Given the description of an element on the screen output the (x, y) to click on. 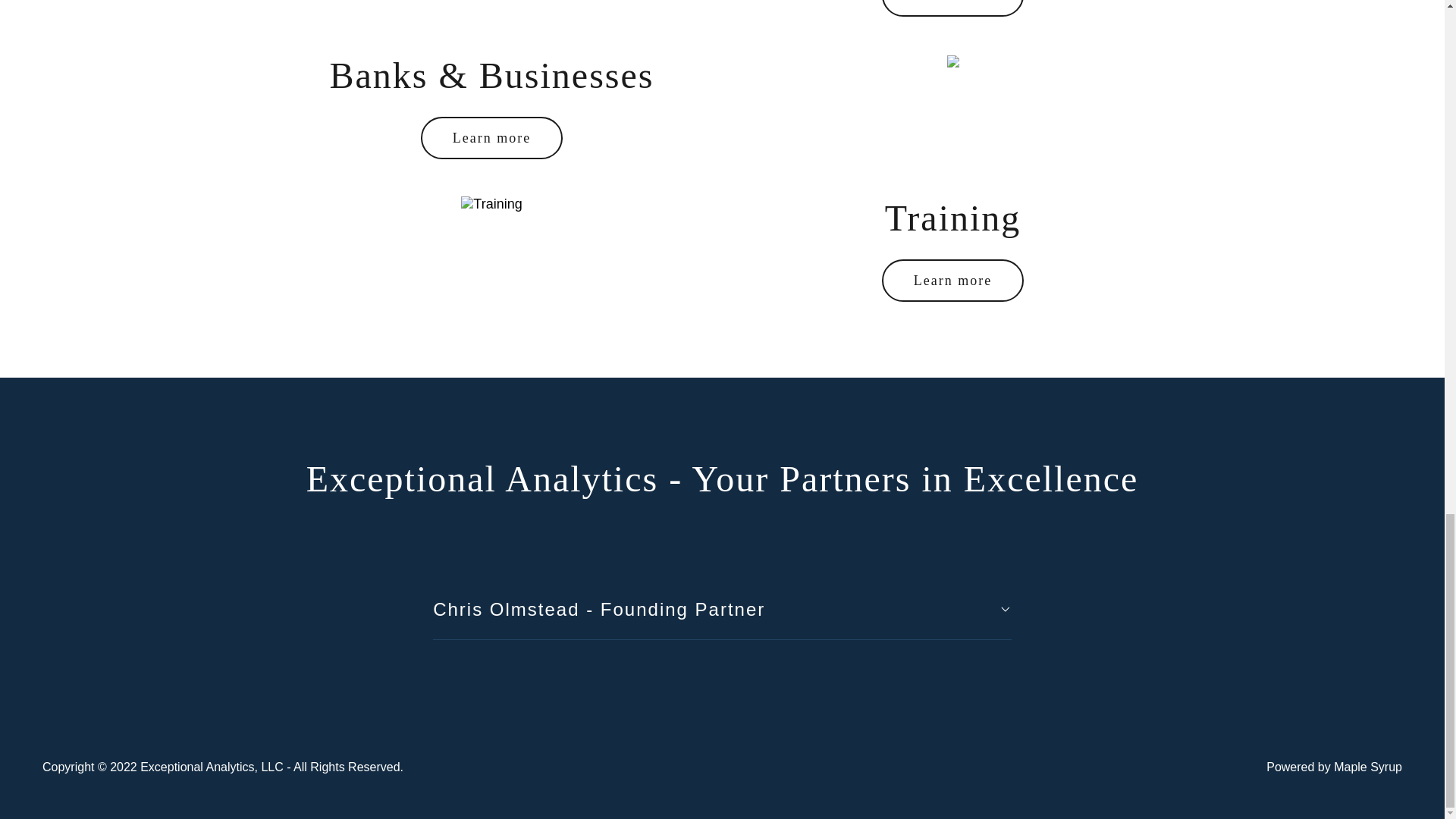
Chris Olmstead - Founding Partner (721, 609)
Learn more (952, 8)
Learn more (491, 137)
Learn more (952, 280)
